Given the description of an element on the screen output the (x, y) to click on. 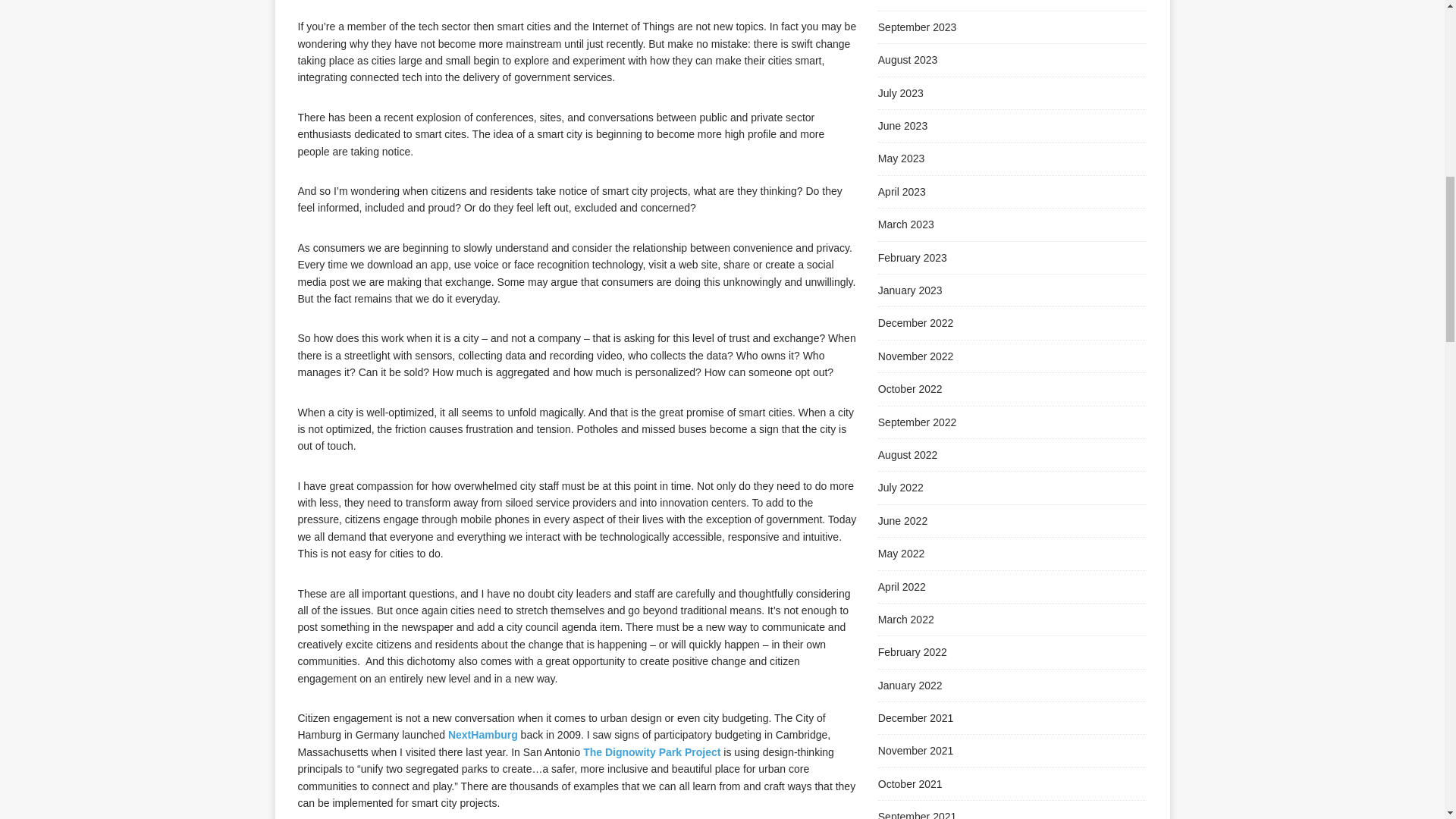
NextHamburg (483, 734)
The Dignowity Park Project  (653, 752)
